Given the description of an element on the screen output the (x, y) to click on. 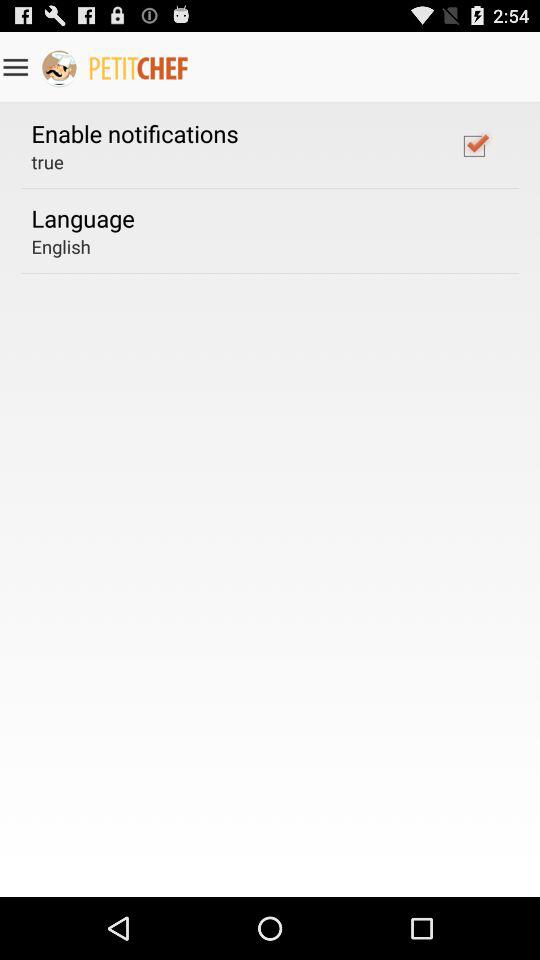
turn on the icon to the right of the enable notifications (474, 145)
